Given the description of an element on the screen output the (x, y) to click on. 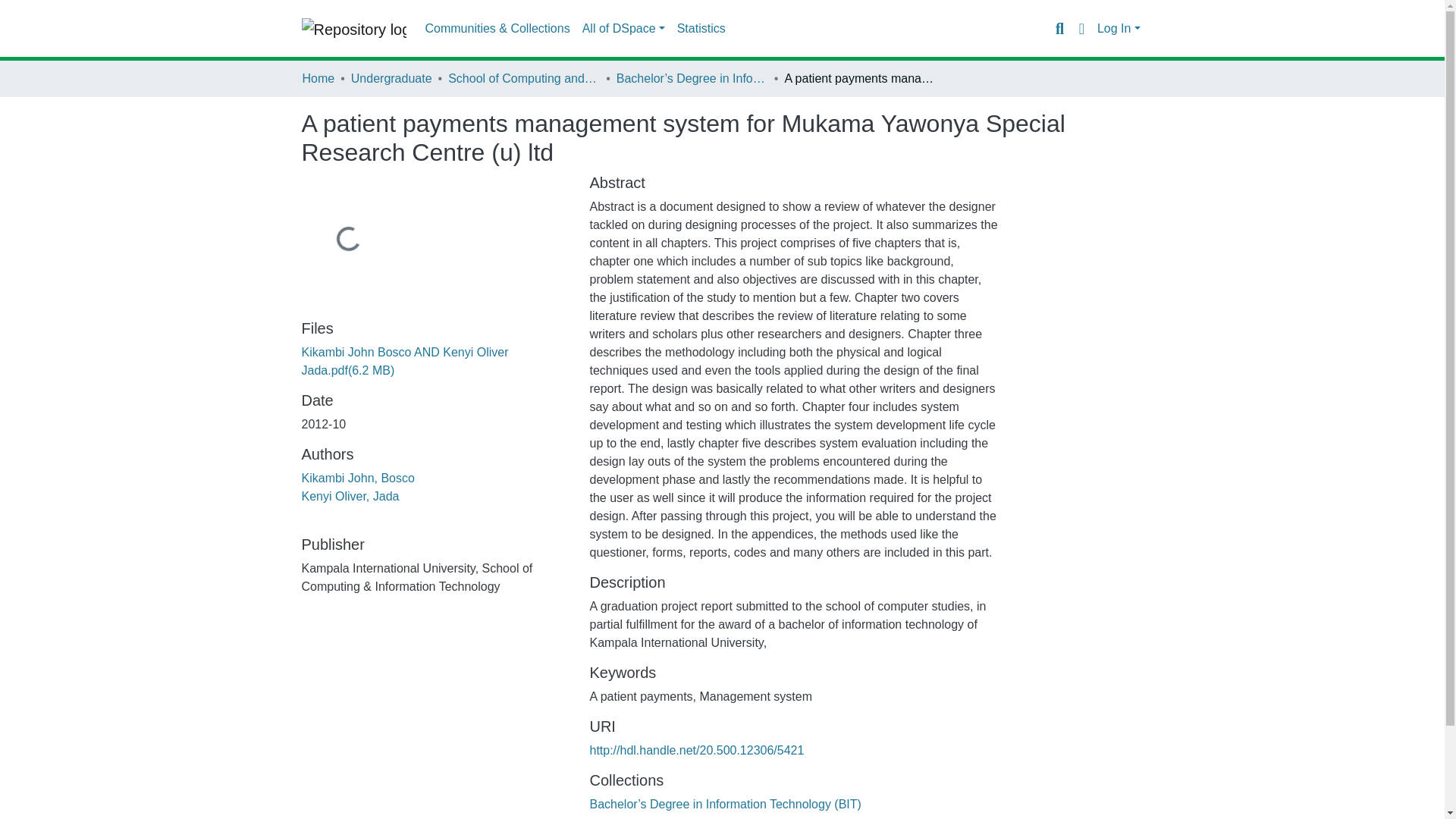
All of DSpace (667, 28)
School of Computing and Information Technology (523, 78)
Kenyi Oliver, Jada (349, 495)
Log In (1118, 28)
Search (1058, 28)
Home (317, 78)
Undergraduate (391, 78)
Kikambi John, Bosco (357, 477)
Statistics (745, 28)
Language switch (1081, 28)
